Given the description of an element on the screen output the (x, y) to click on. 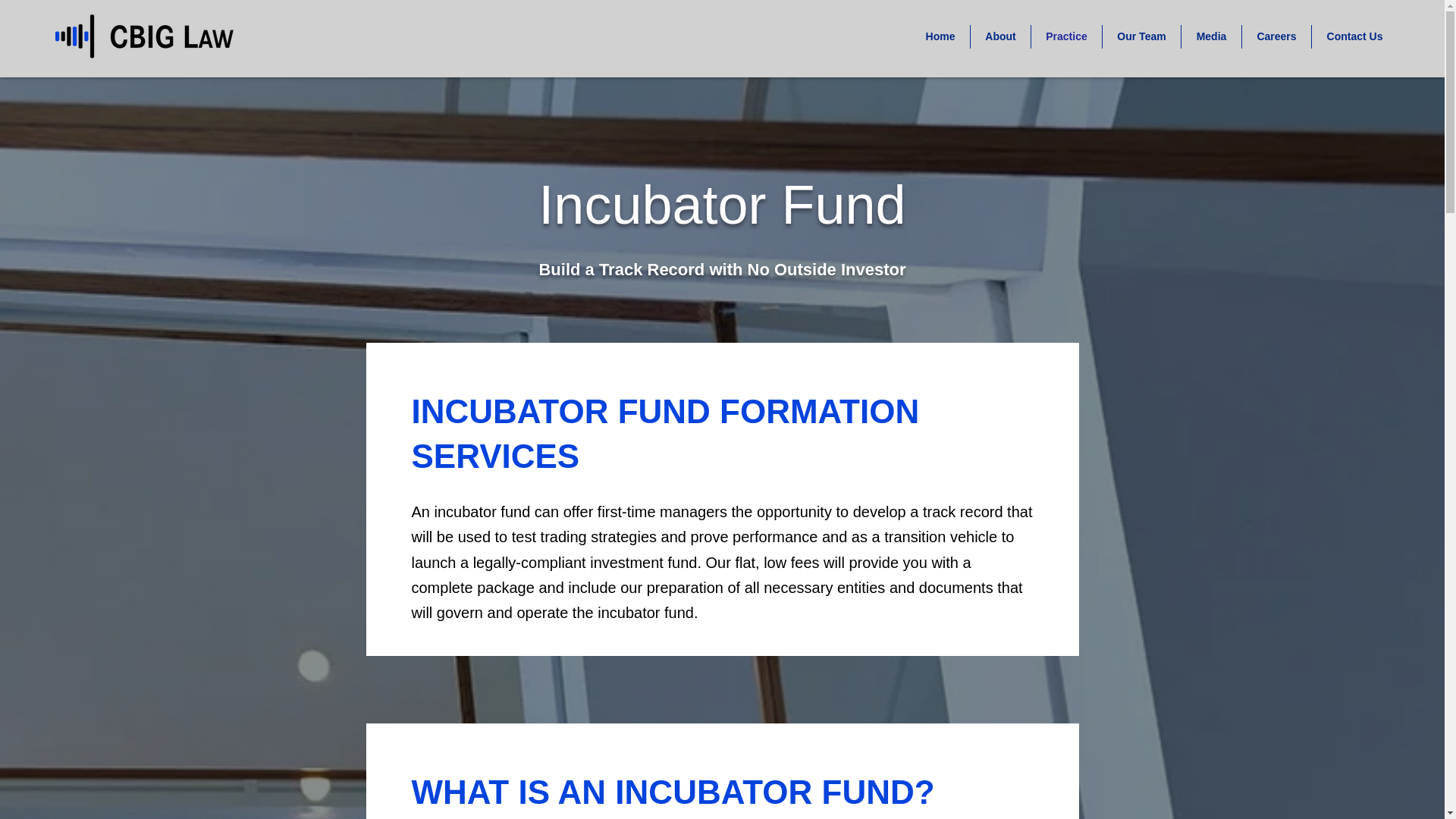
Contact Us (1354, 36)
Careers (1276, 36)
About (1000, 36)
Media (1210, 36)
Practice (1066, 36)
Our Team (1141, 36)
Home (940, 36)
